Given the description of an element on the screen output the (x, y) to click on. 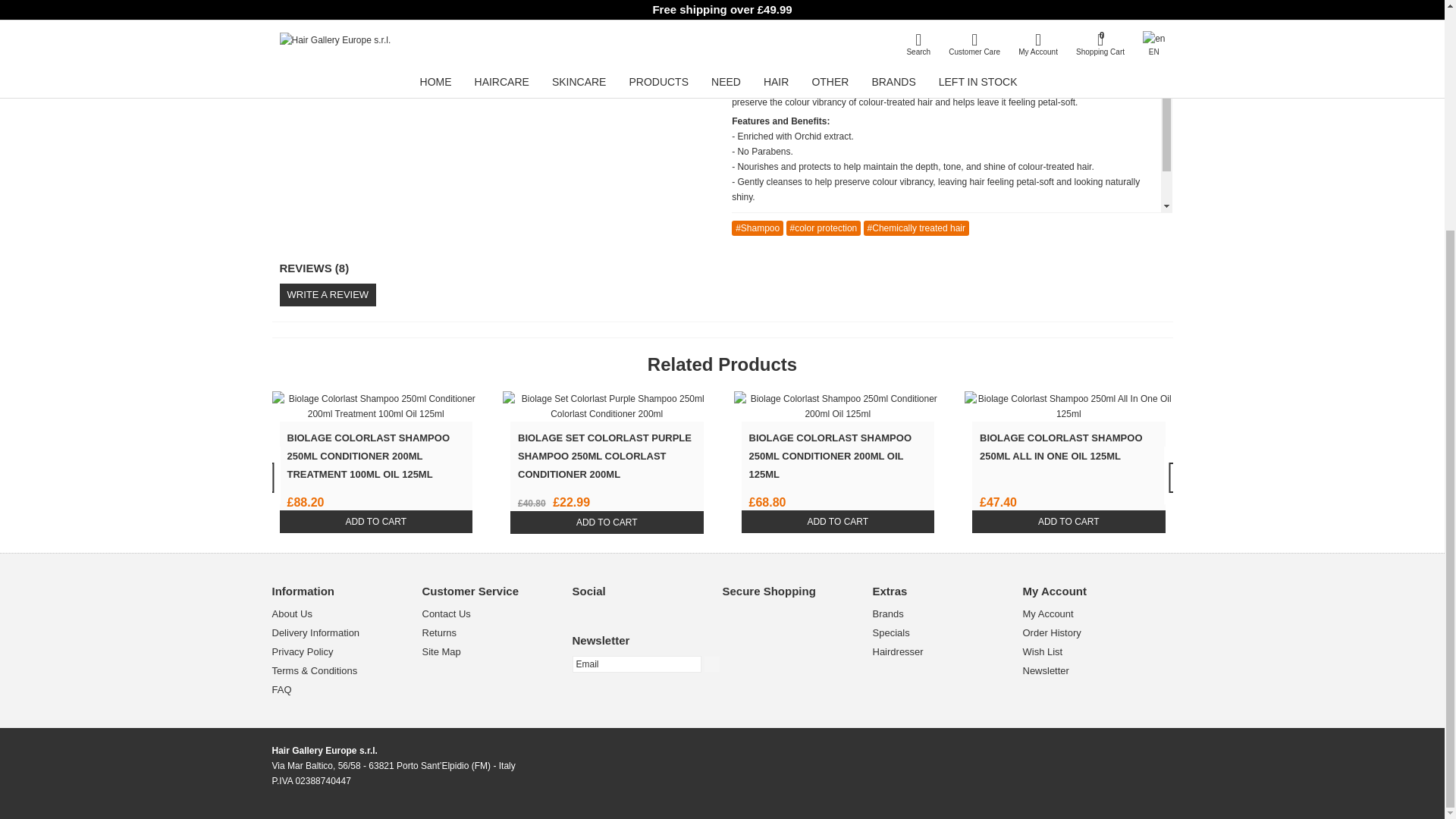
Add to Cart (375, 521)
Add to Cart (837, 521)
Add to Cart (607, 522)
Email (636, 664)
Biolage Colorlast Shampoo 250ml All In One Oil 125ml (1068, 406)
Biolage Colorlast Shampoo 250ml Conditioner 200ml Oil 125ml (837, 406)
Invia (711, 663)
Add to Cart (1069, 521)
